Given the description of an element on the screen output the (x, y) to click on. 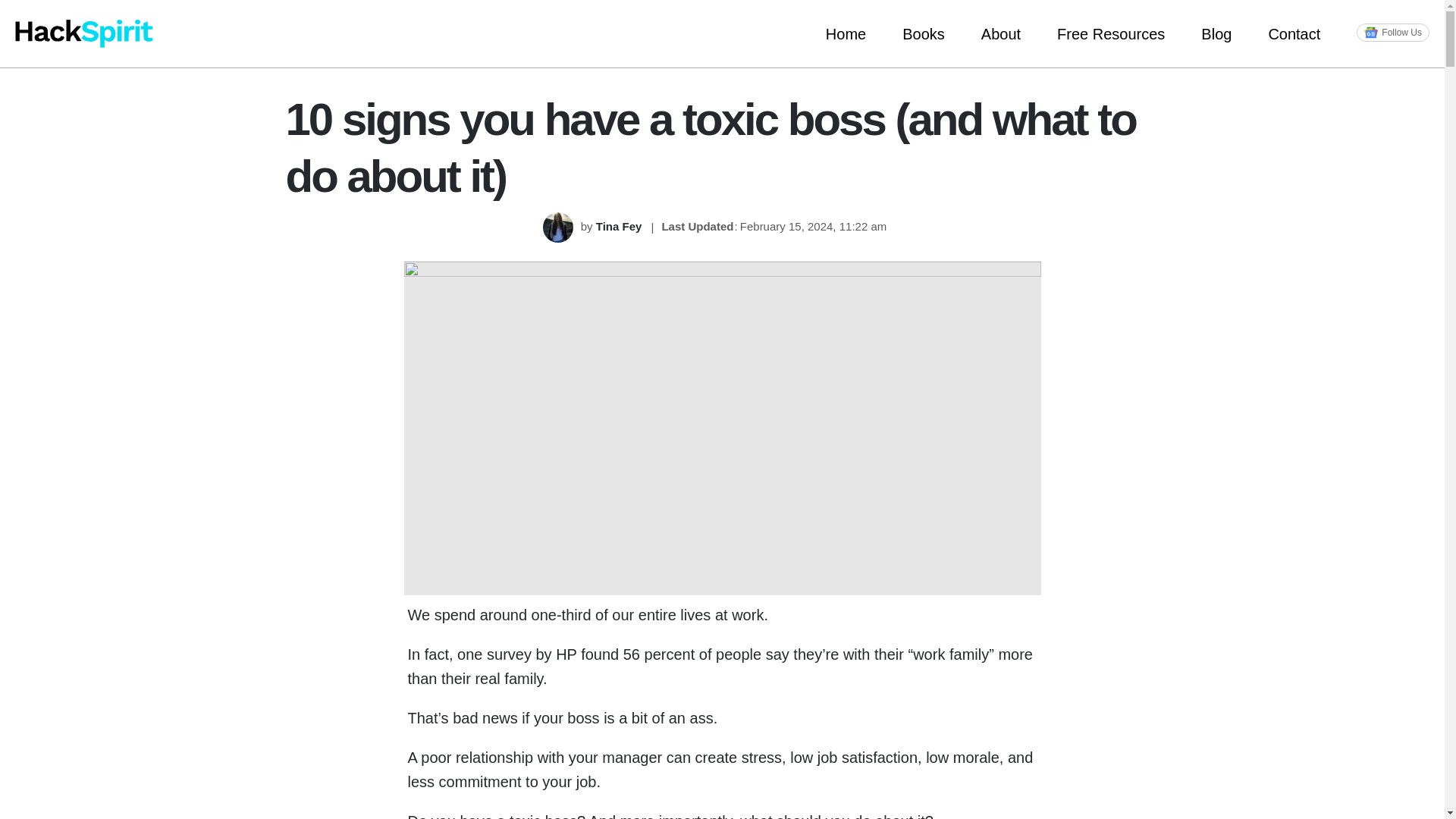
Home (845, 33)
Free Resources (1110, 33)
Blog (1215, 33)
Posts by Tina Fey (620, 226)
Books (922, 33)
About (1000, 33)
Contact (1293, 33)
